Given the description of an element on the screen output the (x, y) to click on. 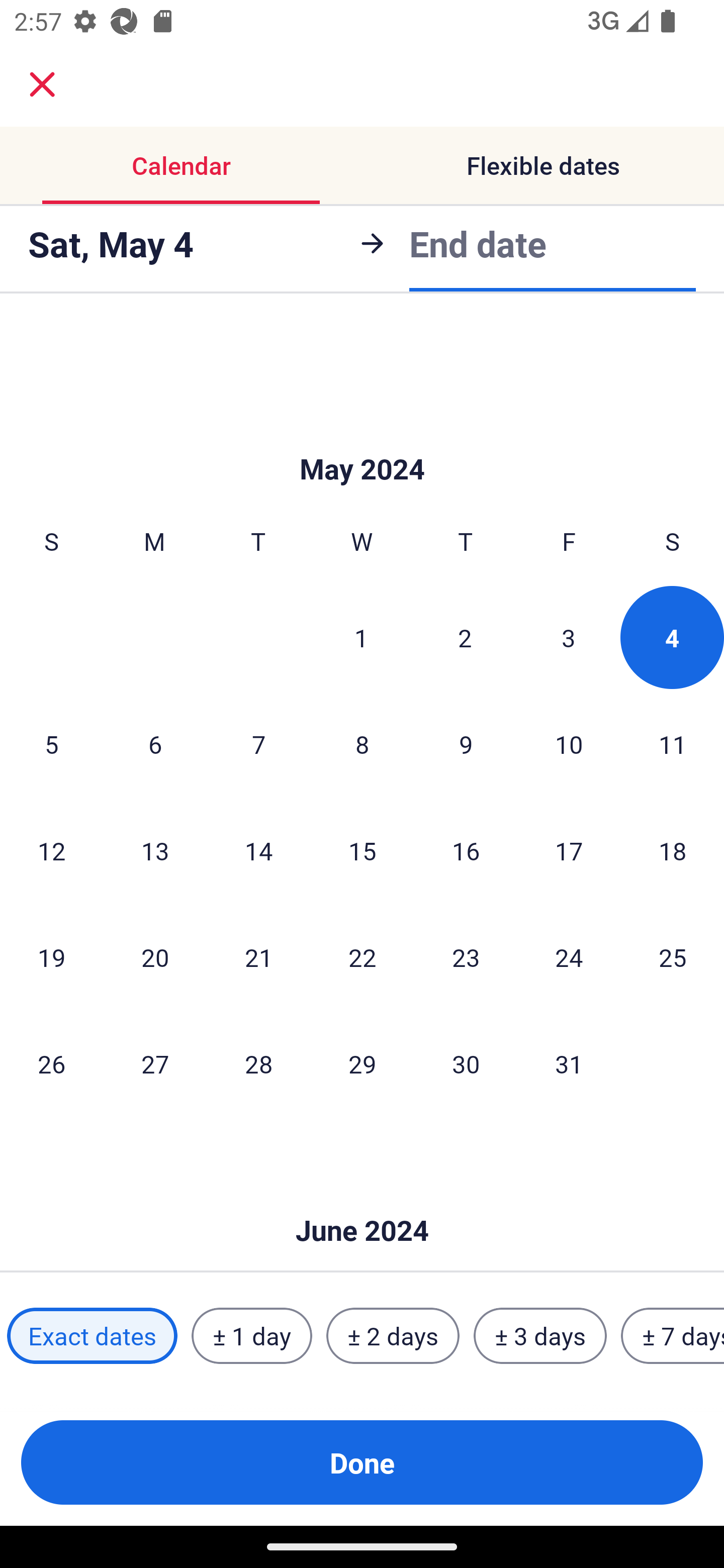
close. (42, 84)
Flexible dates (542, 164)
End date (477, 243)
Skip to Done (362, 438)
1 Wednesday, May 1, 2024 (361, 637)
2 Thursday, May 2, 2024 (464, 637)
3 Friday, May 3, 2024 (568, 637)
5 Sunday, May 5, 2024 (51, 743)
6 Monday, May 6, 2024 (155, 743)
7 Tuesday, May 7, 2024 (258, 743)
8 Wednesday, May 8, 2024 (362, 743)
9 Thursday, May 9, 2024 (465, 743)
10 Friday, May 10, 2024 (569, 743)
11 Saturday, May 11, 2024 (672, 743)
12 Sunday, May 12, 2024 (51, 850)
13 Monday, May 13, 2024 (155, 850)
14 Tuesday, May 14, 2024 (258, 850)
15 Wednesday, May 15, 2024 (362, 850)
16 Thursday, May 16, 2024 (465, 850)
17 Friday, May 17, 2024 (569, 850)
18 Saturday, May 18, 2024 (672, 850)
19 Sunday, May 19, 2024 (51, 957)
20 Monday, May 20, 2024 (155, 957)
21 Tuesday, May 21, 2024 (258, 957)
22 Wednesday, May 22, 2024 (362, 957)
23 Thursday, May 23, 2024 (465, 957)
24 Friday, May 24, 2024 (569, 957)
25 Saturday, May 25, 2024 (672, 957)
26 Sunday, May 26, 2024 (51, 1063)
27 Monday, May 27, 2024 (155, 1063)
28 Tuesday, May 28, 2024 (258, 1063)
29 Wednesday, May 29, 2024 (362, 1063)
30 Thursday, May 30, 2024 (465, 1063)
31 Friday, May 31, 2024 (569, 1063)
Skip to Done (362, 1200)
Exact dates (92, 1335)
± 1 day (251, 1335)
± 2 days (392, 1335)
± 3 days (539, 1335)
± 7 days (672, 1335)
Done (361, 1462)
